Given the description of an element on the screen output the (x, y) to click on. 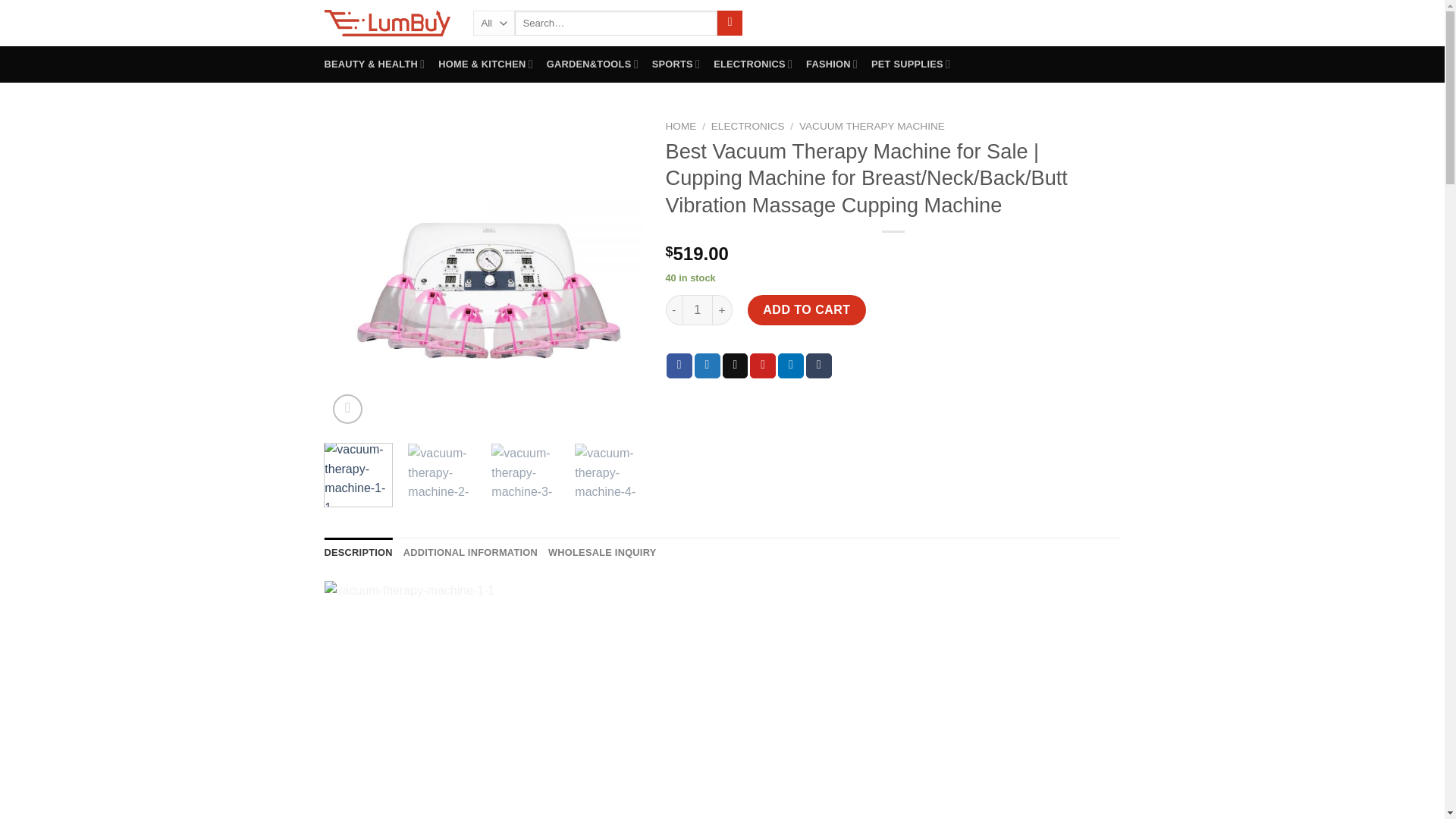
Qty (697, 309)
LumBuy (386, 22)
ELECTRONICS (752, 63)
1 (697, 309)
Cart (1079, 22)
PET SUPPLIES (910, 63)
Pin on Pinterest (762, 365)
Share on Twitter (707, 365)
SPORTS (676, 63)
Email to a Friend (735, 365)
FASHION (831, 63)
Share on Tumblr (818, 365)
Zoom (347, 408)
Share on Facebook (679, 365)
Search (729, 23)
